Given the description of an element on the screen output the (x, y) to click on. 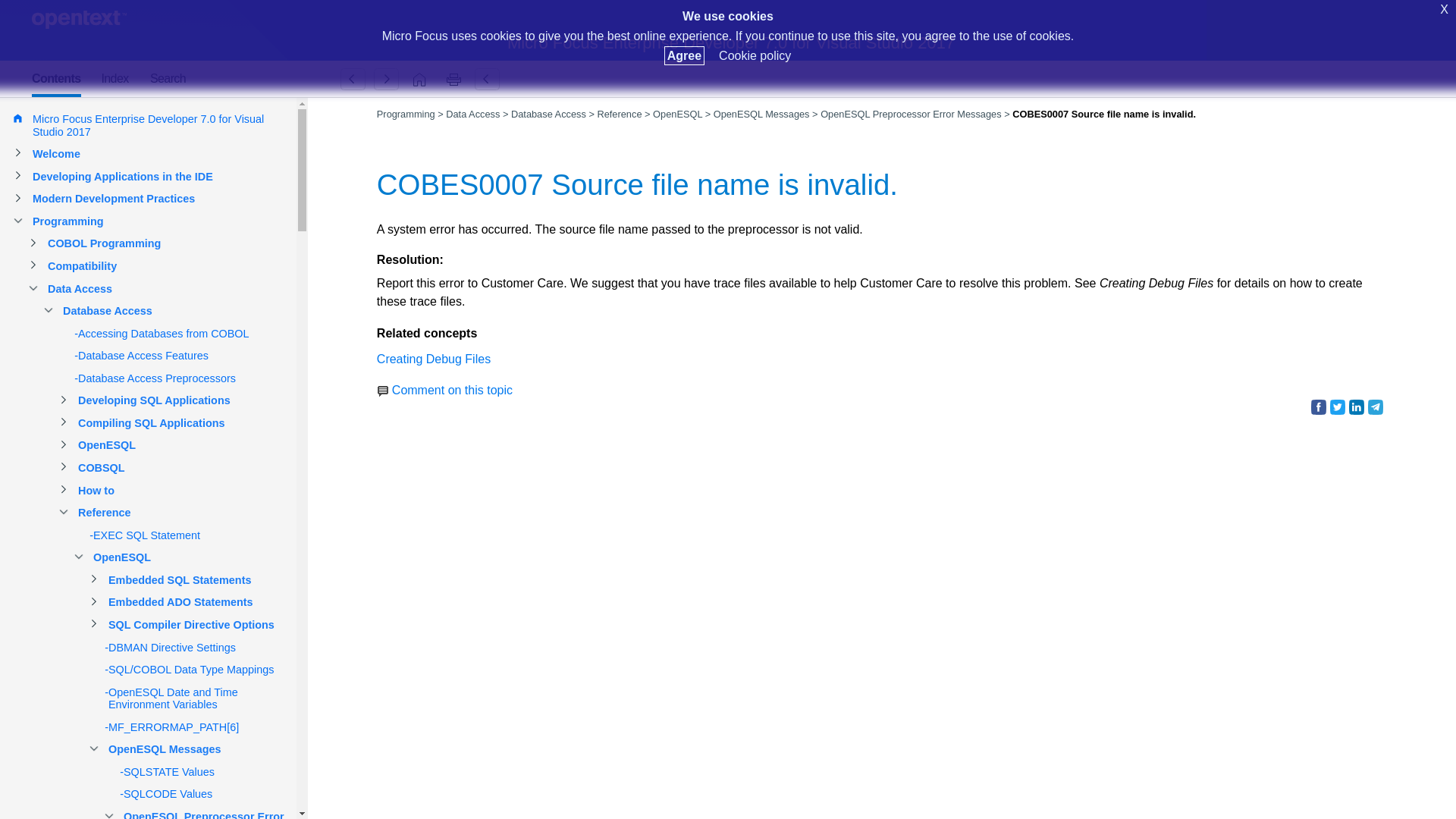
Agree (684, 55)
COBES0006 No DB engine could be found. (352, 78)
Cookie policy (754, 55)
COBES0010 OESQL rejected an unspecified option. (386, 78)
